Given the description of an element on the screen output the (x, y) to click on. 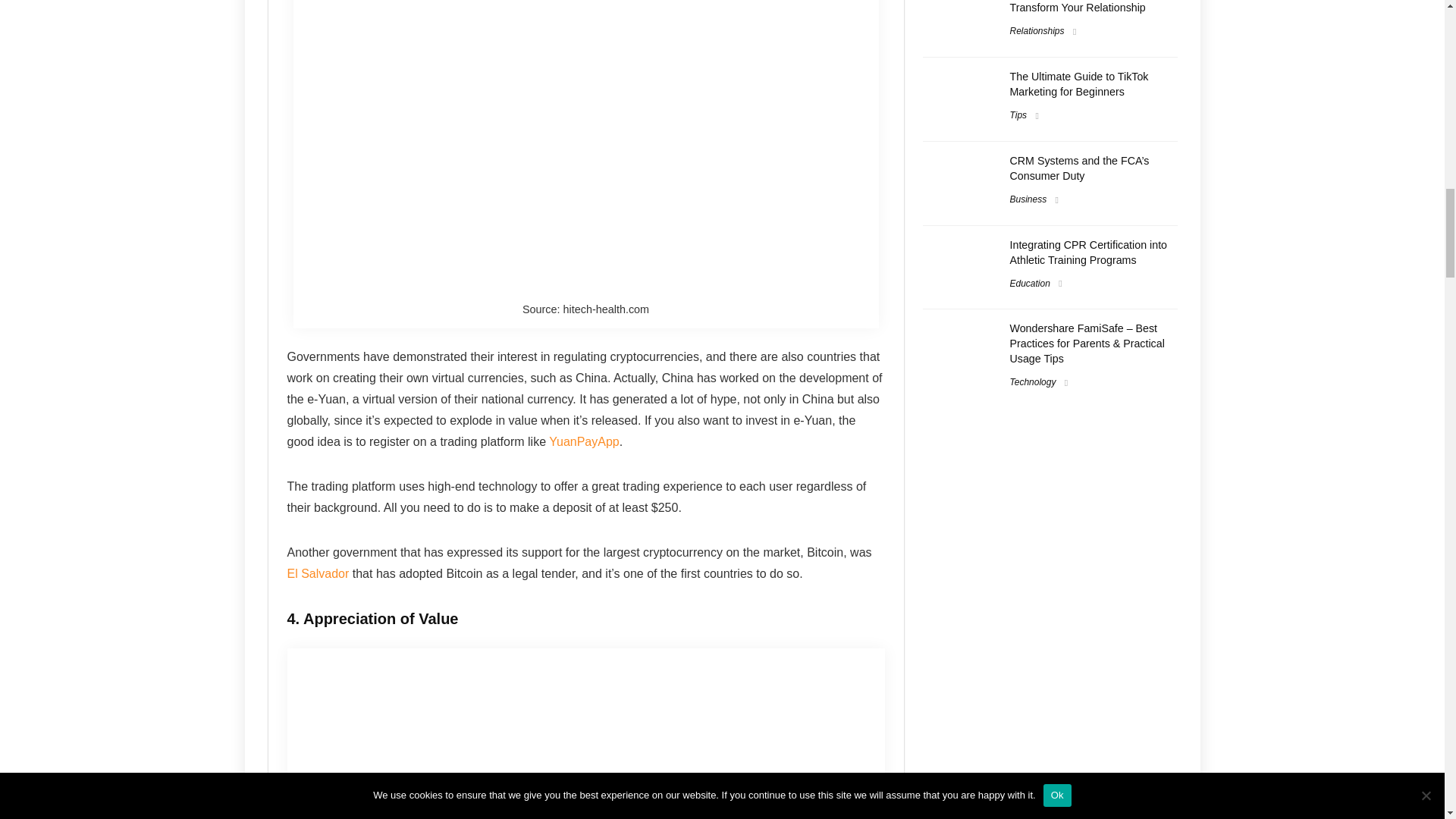
YuanPayApp (584, 440)
El Salvador (317, 573)
